Given the description of an element on the screen output the (x, y) to click on. 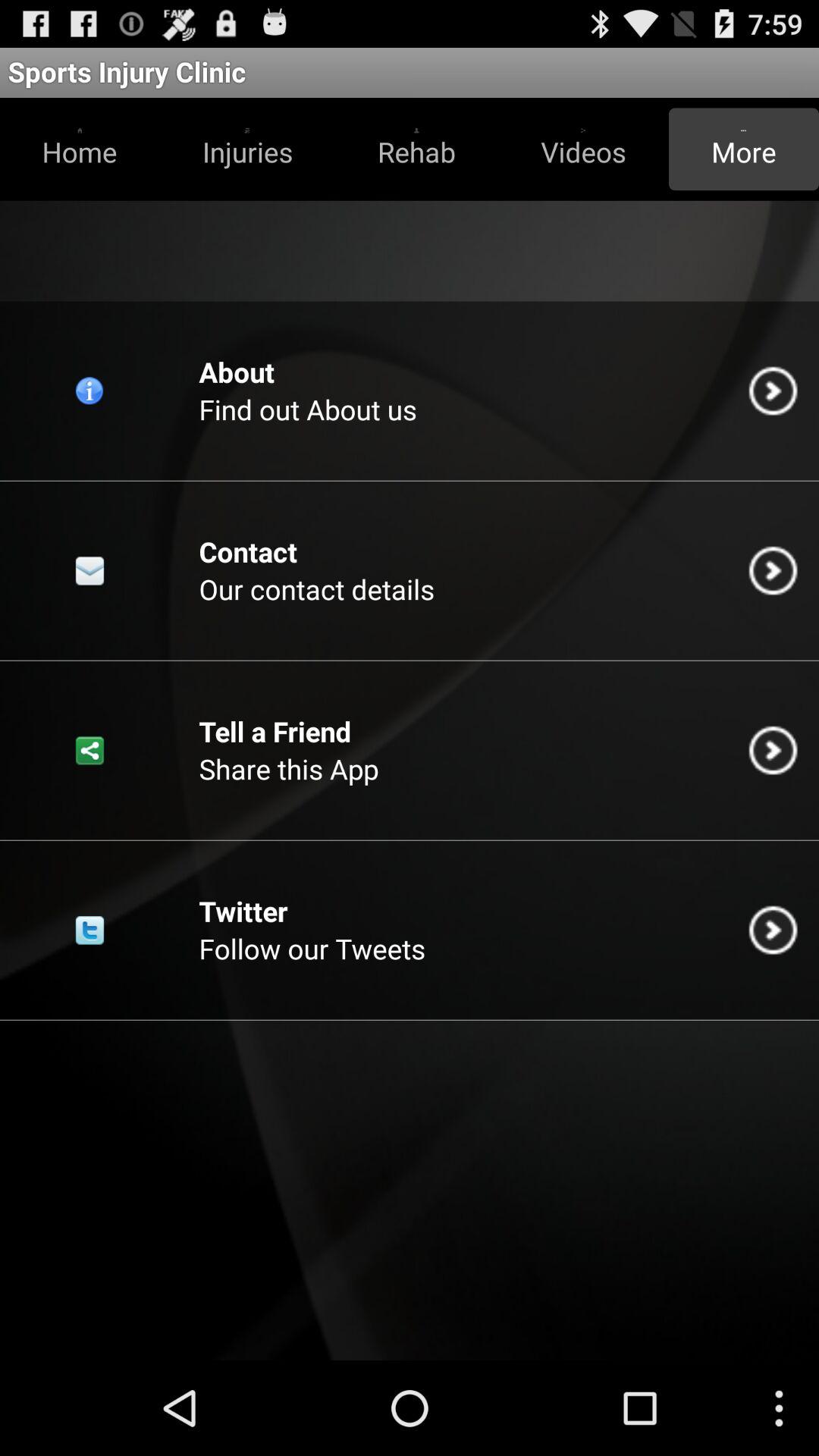
flip until the share this app icon (288, 768)
